Given the description of an element on the screen output the (x, y) to click on. 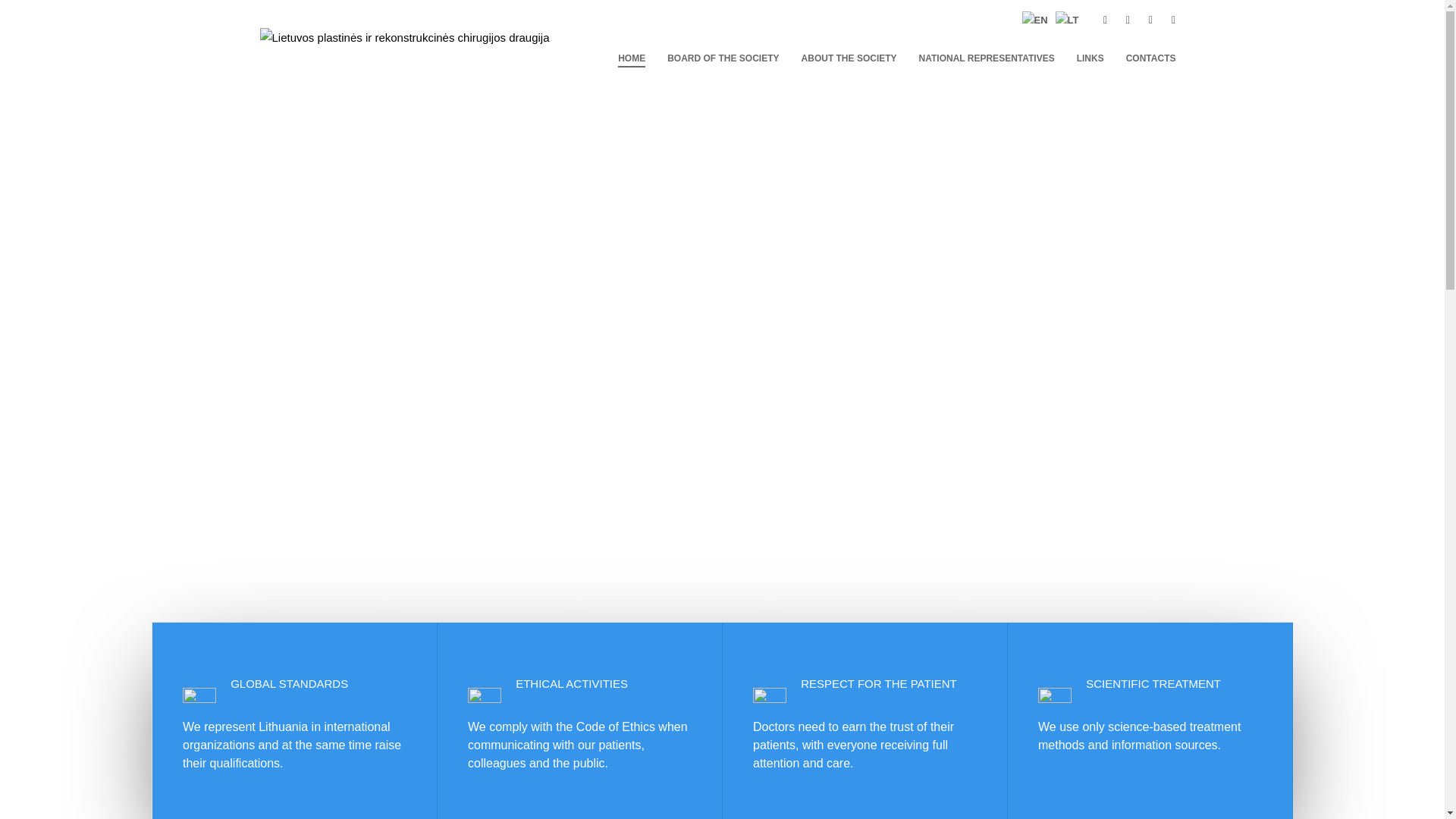
Telefonas (1104, 20)
LINKS (1090, 57)
Google map (1149, 20)
HOME (630, 57)
ABOUT THE SOCIETY (848, 57)
BOARD OF THE SOCIETY (722, 57)
CONTACTS (1150, 57)
NATIONAL REPRESENTATIVES (987, 57)
